Given the description of an element on the screen output the (x, y) to click on. 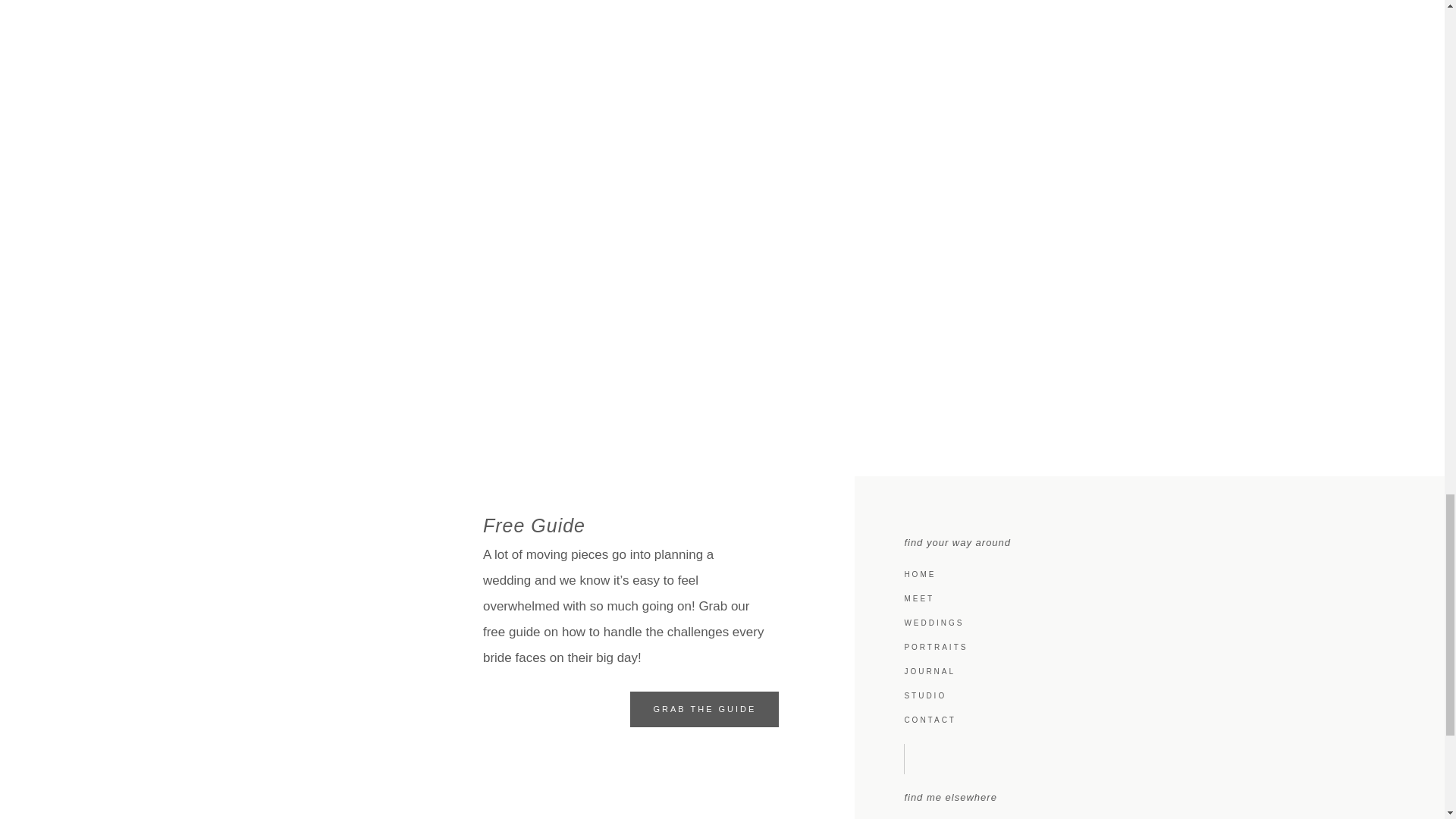
STUDIO (1157, 695)
HOME (1157, 574)
WEDDINGS (1157, 622)
PORTRAITS (1157, 647)
JOURNAL (1157, 671)
GRAB THE GUIDE (704, 709)
CONTACT (1157, 720)
MEET (1157, 598)
